Given the description of an element on the screen output the (x, y) to click on. 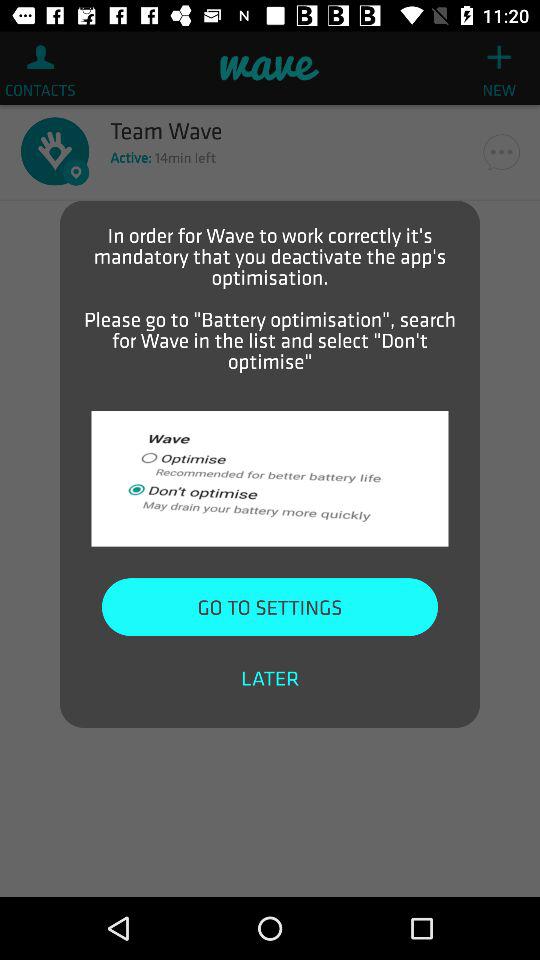
open item below the go to settings icon (269, 677)
